Given the description of an element on the screen output the (x, y) to click on. 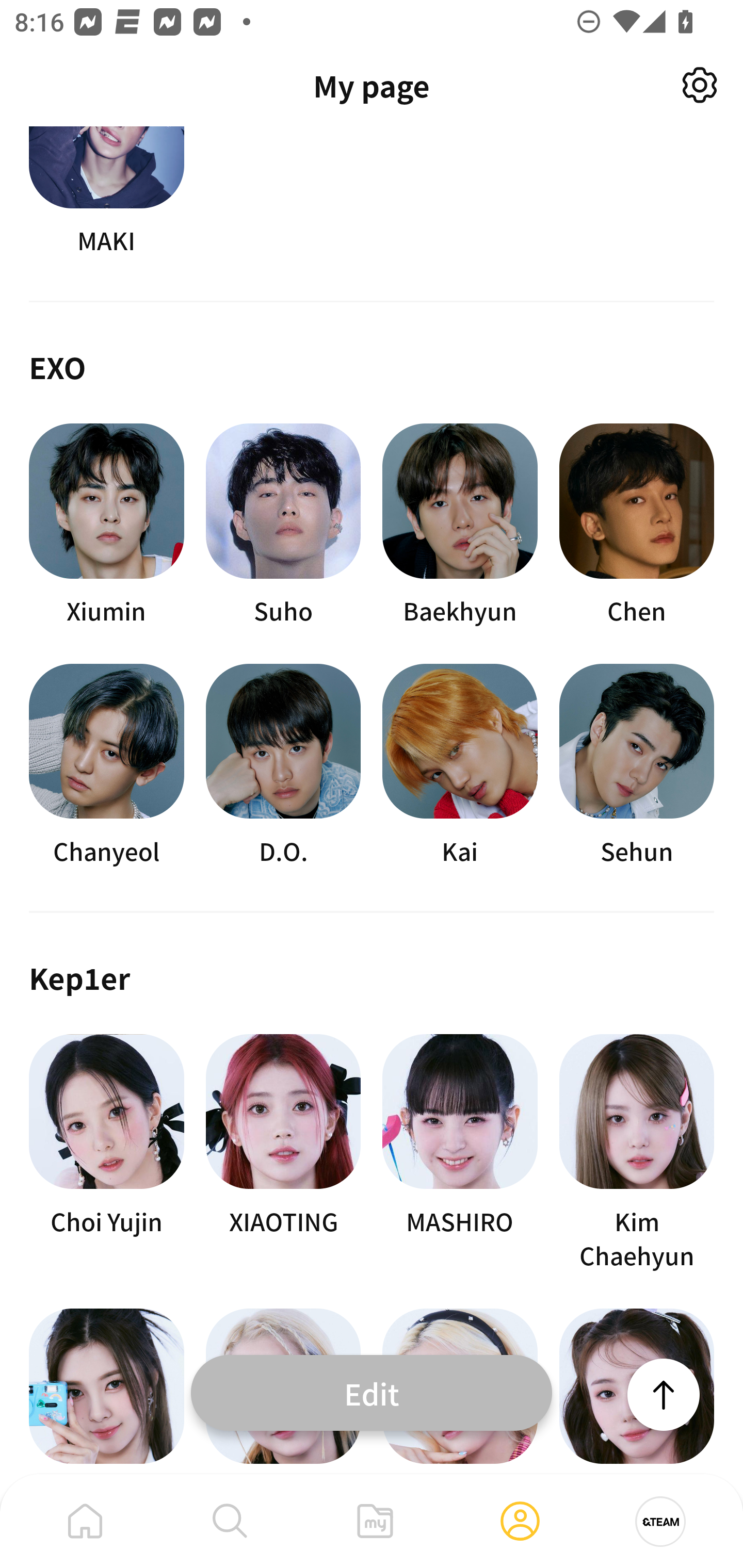
MAKI (106, 192)
Xiumin (106, 525)
Suho (282, 525)
Baekhyun (459, 525)
Chen (636, 525)
Chanyeol (106, 765)
D.O. (282, 765)
Kai (459, 765)
Sehun (636, 765)
Choi Yujin (106, 1152)
XIAOTING (282, 1152)
MASHIRO (459, 1152)
Kim Chaehyun (636, 1152)
Edit (371, 1392)
